Given the description of an element on the screen output the (x, y) to click on. 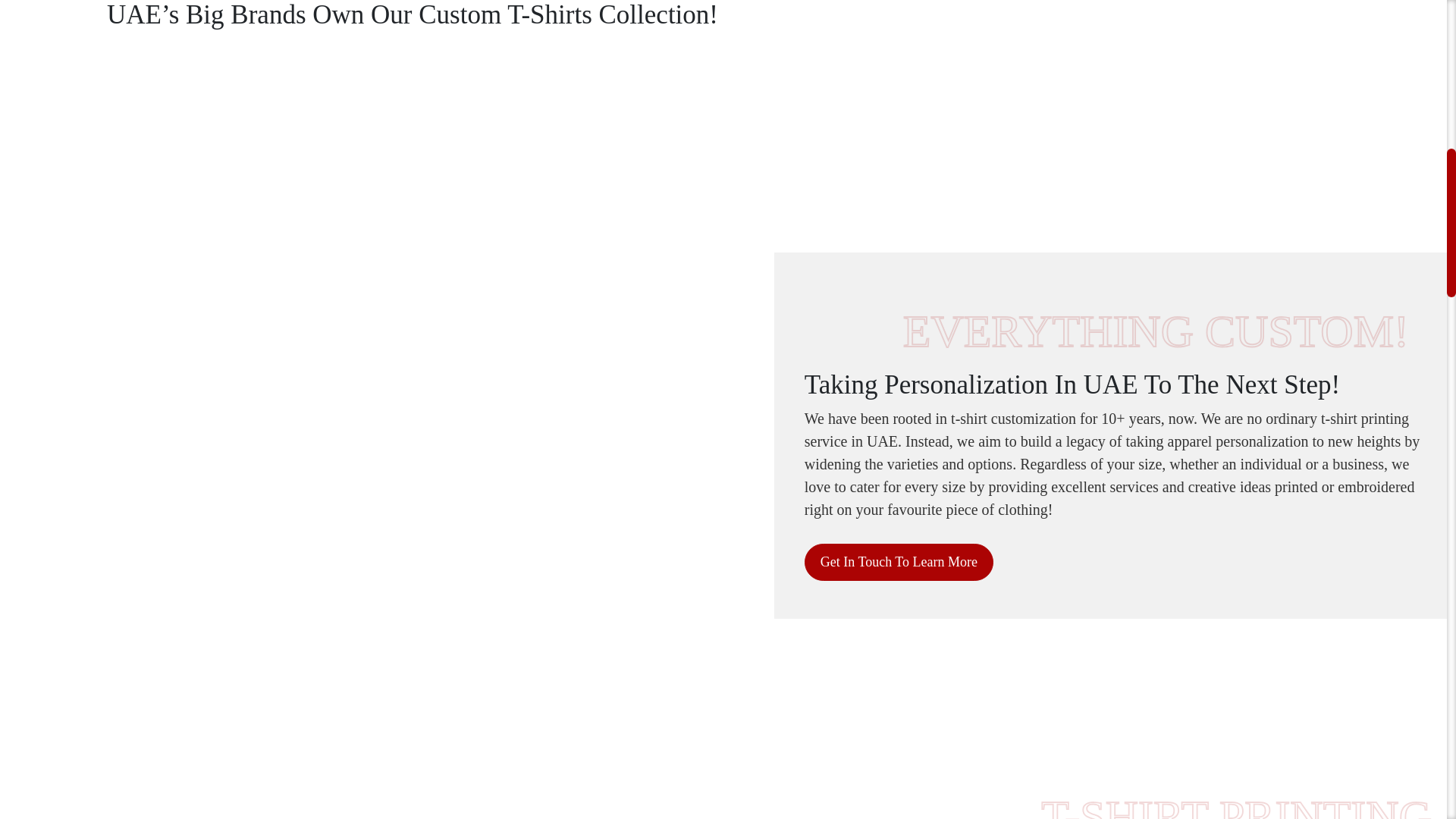
Get In Touch To Learn More (898, 561)
